Given the description of an element on the screen output the (x, y) to click on. 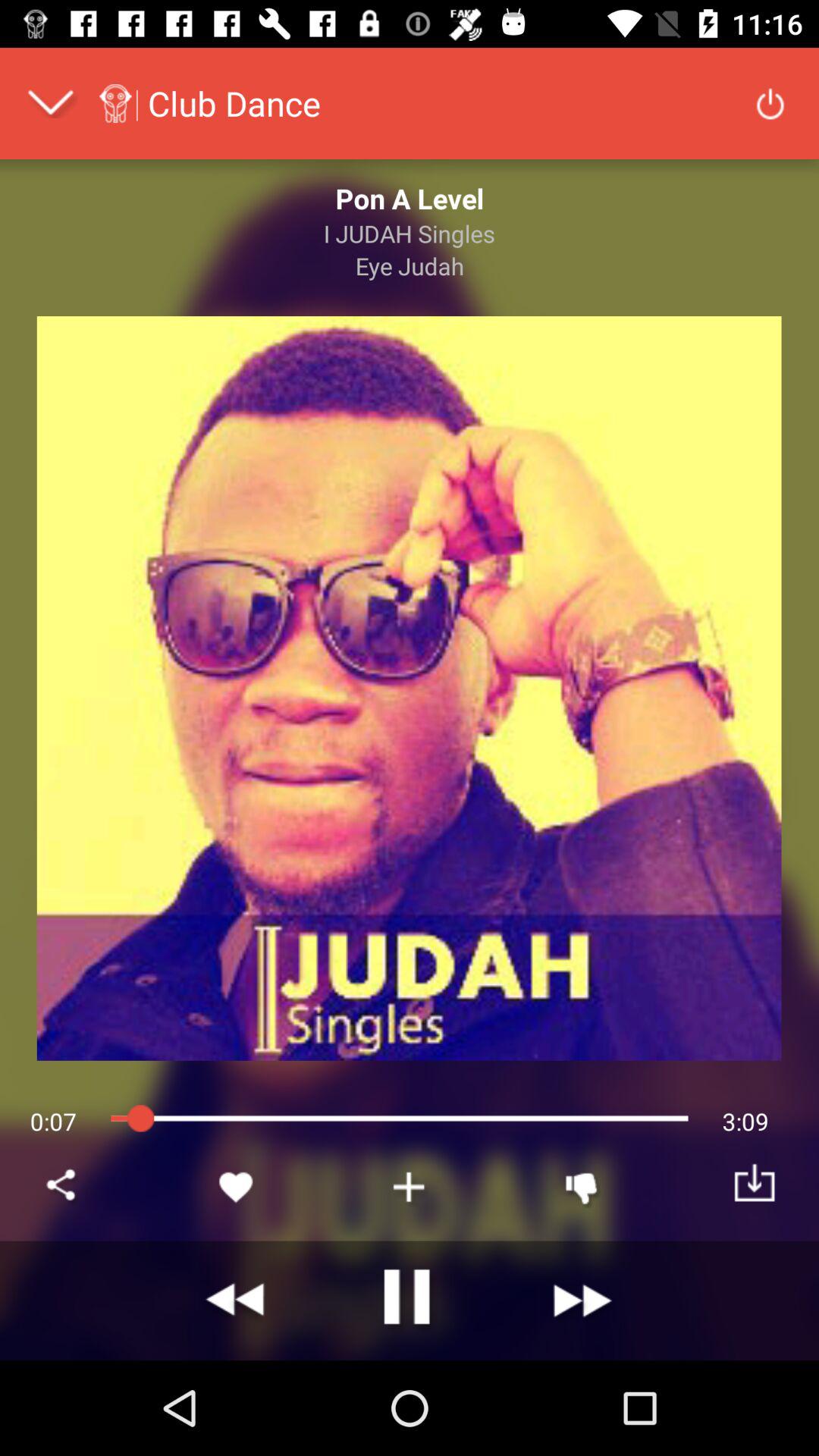
add to music (409, 1186)
